Given the description of an element on the screen output the (x, y) to click on. 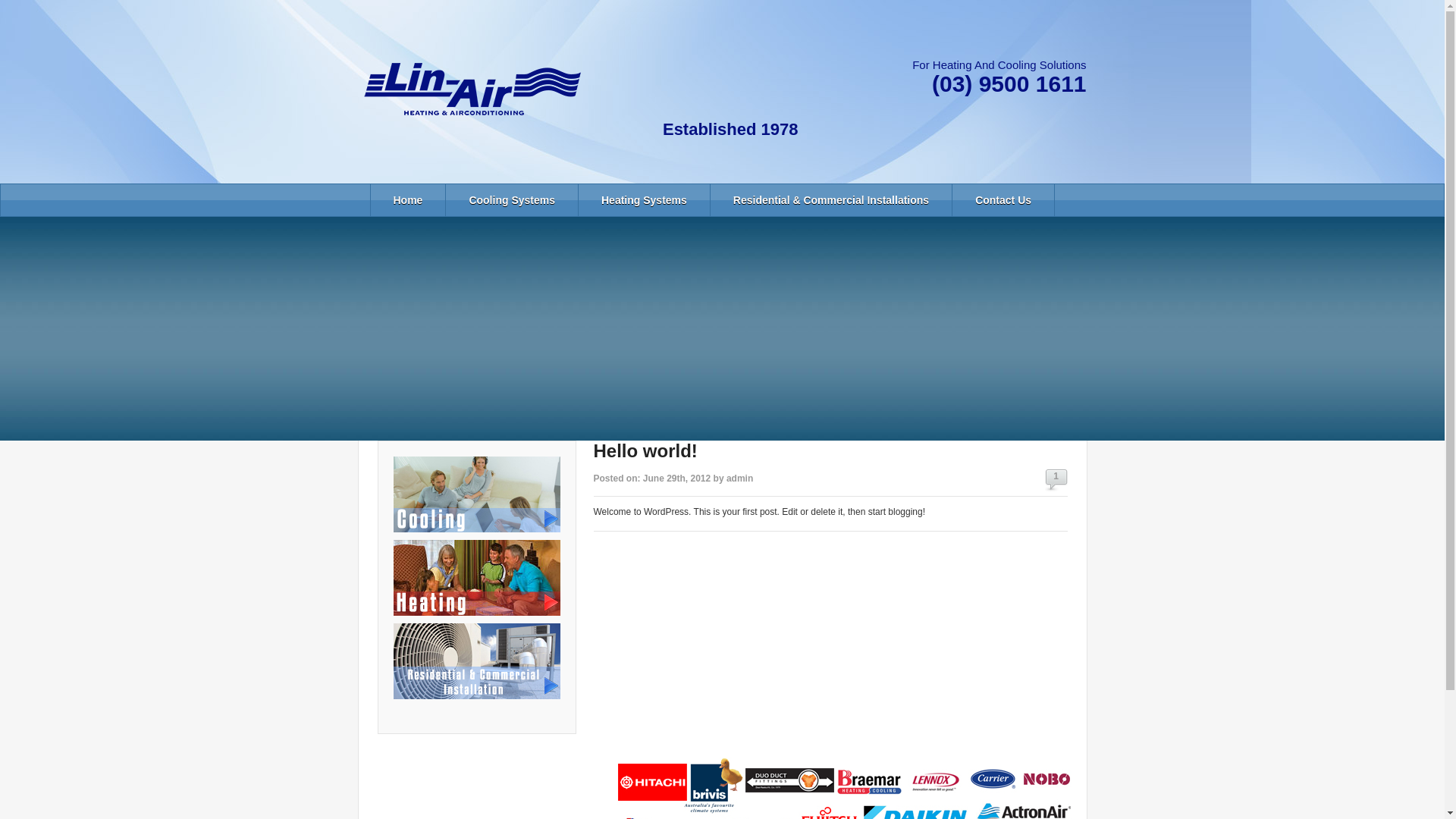
Contact Us Element type: text (1003, 200)
Heating Systems Element type: text (643, 200)
Cooling Systems Element type: text (511, 200)
Home Element type: text (407, 200)
Just another WordPress site Element type: hover (471, 88)
Residential & Commercial Installations Element type: text (830, 200)
